Given the description of an element on the screen output the (x, y) to click on. 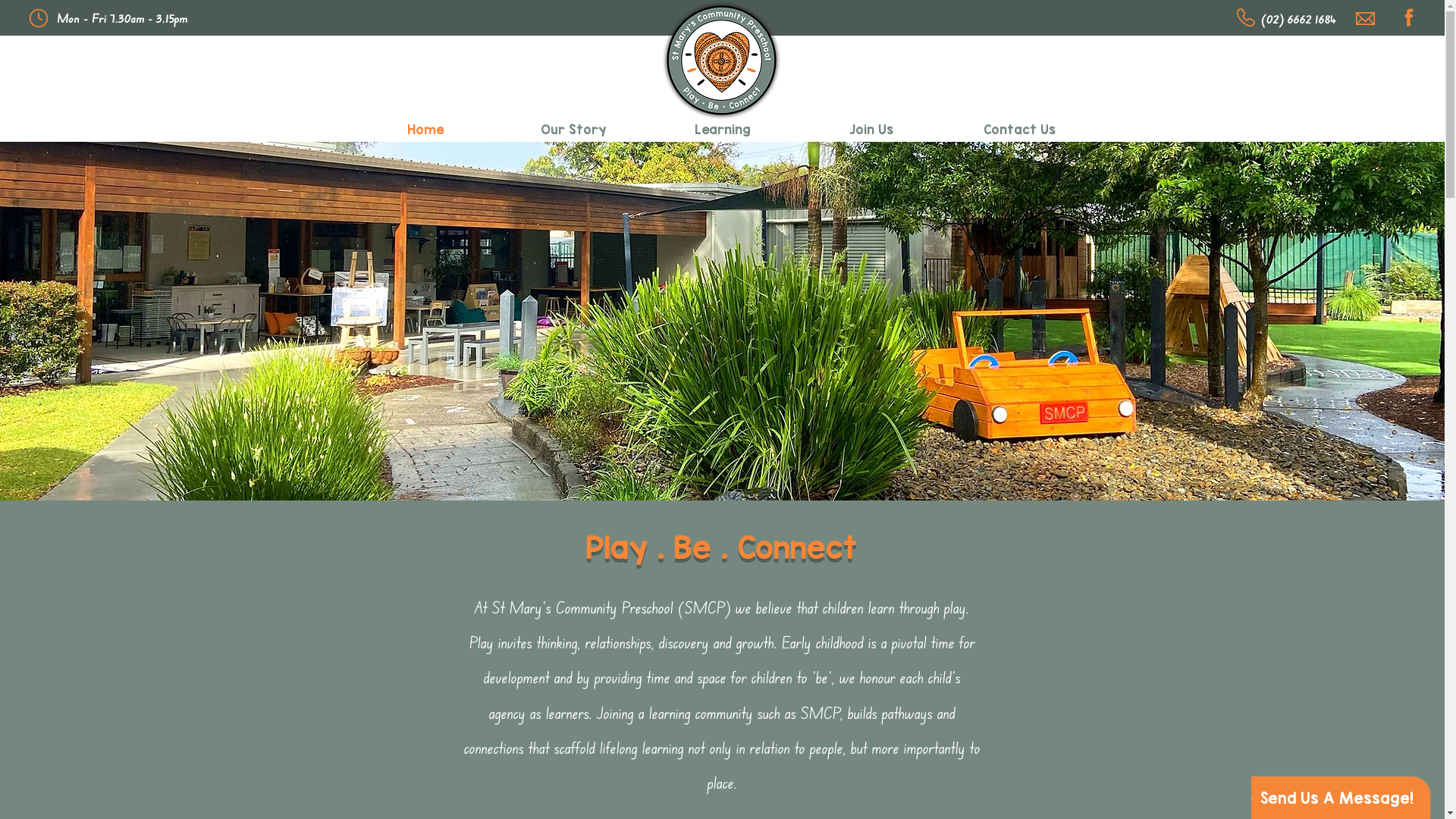
Home Element type: text (424, 125)
Mon - Fri 7.30am - 3.15pm Element type: text (122, 17)
(02) 6662 1684 Element type: text (1298, 17)
Our Story Element type: text (572, 125)
Learning Element type: text (721, 125)
Join Us Element type: text (870, 125)
Contact Us Element type: text (1018, 125)
